Given the description of an element on the screen output the (x, y) to click on. 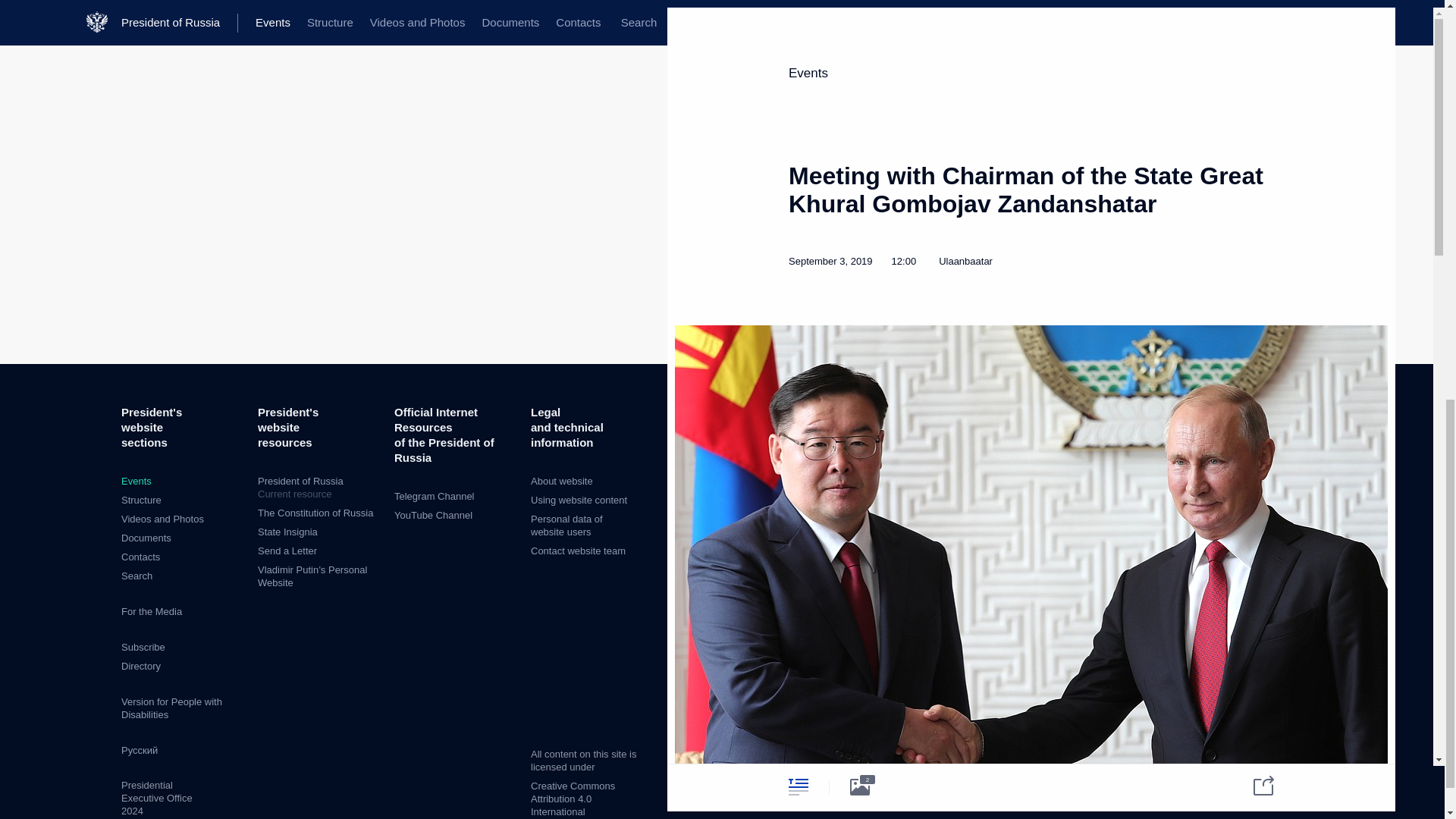
About website (561, 480)
Personal data of website users (317, 487)
Telegram Channel (566, 525)
Search (434, 496)
Documents (136, 575)
Directory (145, 537)
Contact website team (140, 665)
Version for People with Disabilities (578, 550)
Creative Commons Attribution 4.0 International (171, 708)
